Given the description of an element on the screen output the (x, y) to click on. 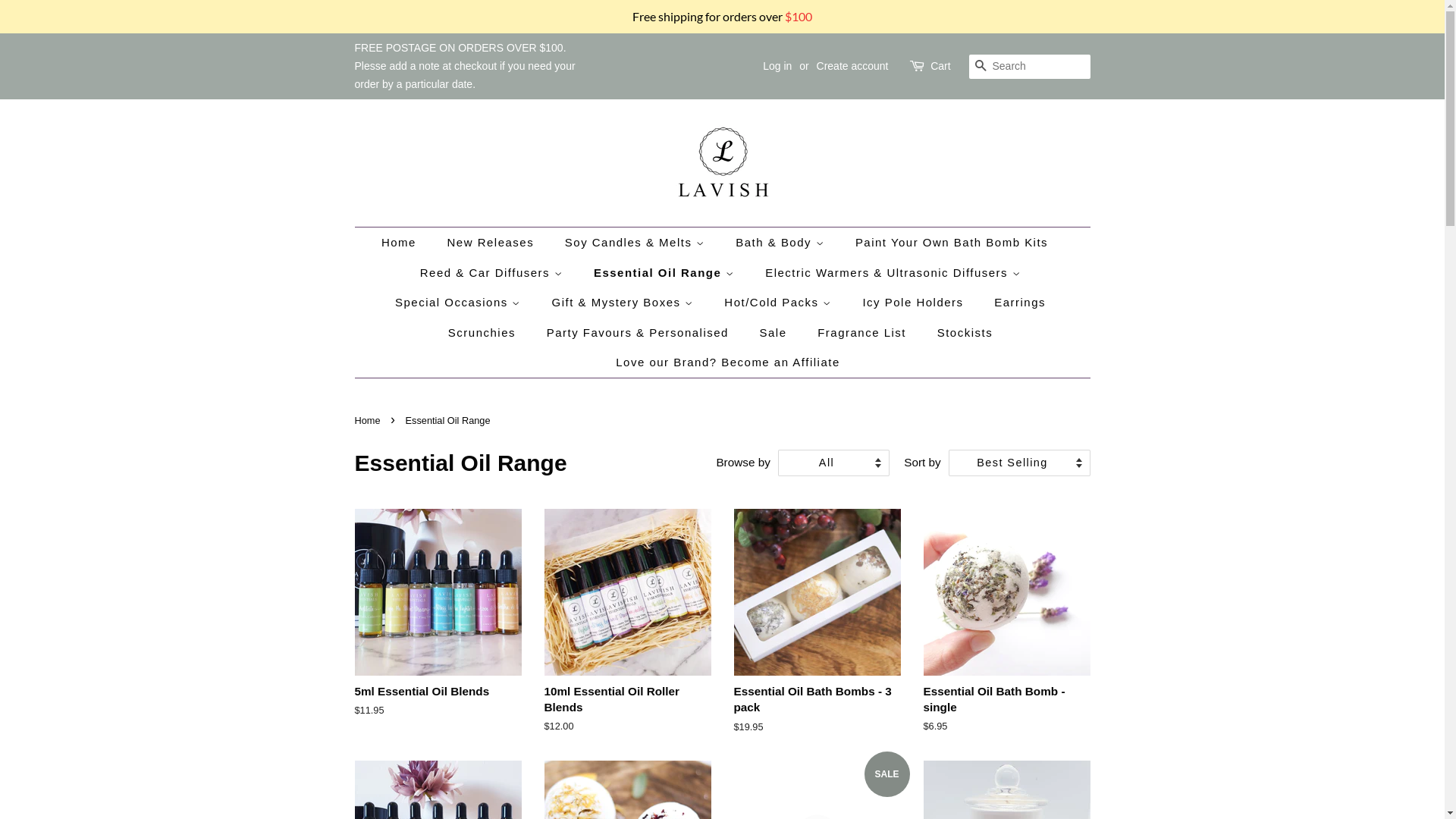
5ml Essential Oil Blends
Regular price
$11.95 Element type: text (437, 626)
Search Element type: text (981, 66)
Party Favours & Personalised Element type: text (639, 332)
Icy Pole Holders Element type: text (914, 302)
Special Occasions Element type: text (459, 302)
Soy Candles & Melts Element type: text (636, 242)
Sale Element type: text (775, 332)
Reed & Car Diffusers Element type: text (492, 272)
Log in Element type: text (776, 65)
Paint Your Own Bath Bomb Kits Element type: text (953, 242)
New Releases Element type: text (492, 242)
Essential Oil Bath Bomb - single
Regular price
$6.95 Element type: text (1006, 634)
Home Element type: text (369, 420)
Gift & Mystery Boxes Element type: text (624, 302)
Bath & Body Element type: text (781, 242)
10ml Essential Oil Roller Blends
Regular price
$12.00 Element type: text (627, 634)
Stockists Element type: text (966, 332)
Earrings Element type: text (1021, 302)
Hot/Cold Packs Element type: text (779, 302)
Create account Element type: text (852, 65)
Love our Brand? Become an Affiliate Element type: text (721, 362)
Fragrance List Element type: text (863, 332)
Home Element type: text (406, 242)
Essential Oil Bath Bombs - 3 pack
Regular price
$19.95 Element type: text (817, 634)
Essential Oil Range Element type: text (665, 272)
Cart Element type: text (940, 66)
Electric Warmers & Ultrasonic Diffusers Element type: text (894, 272)
Scrunchies Element type: text (483, 332)
